Given the description of an element on the screen output the (x, y) to click on. 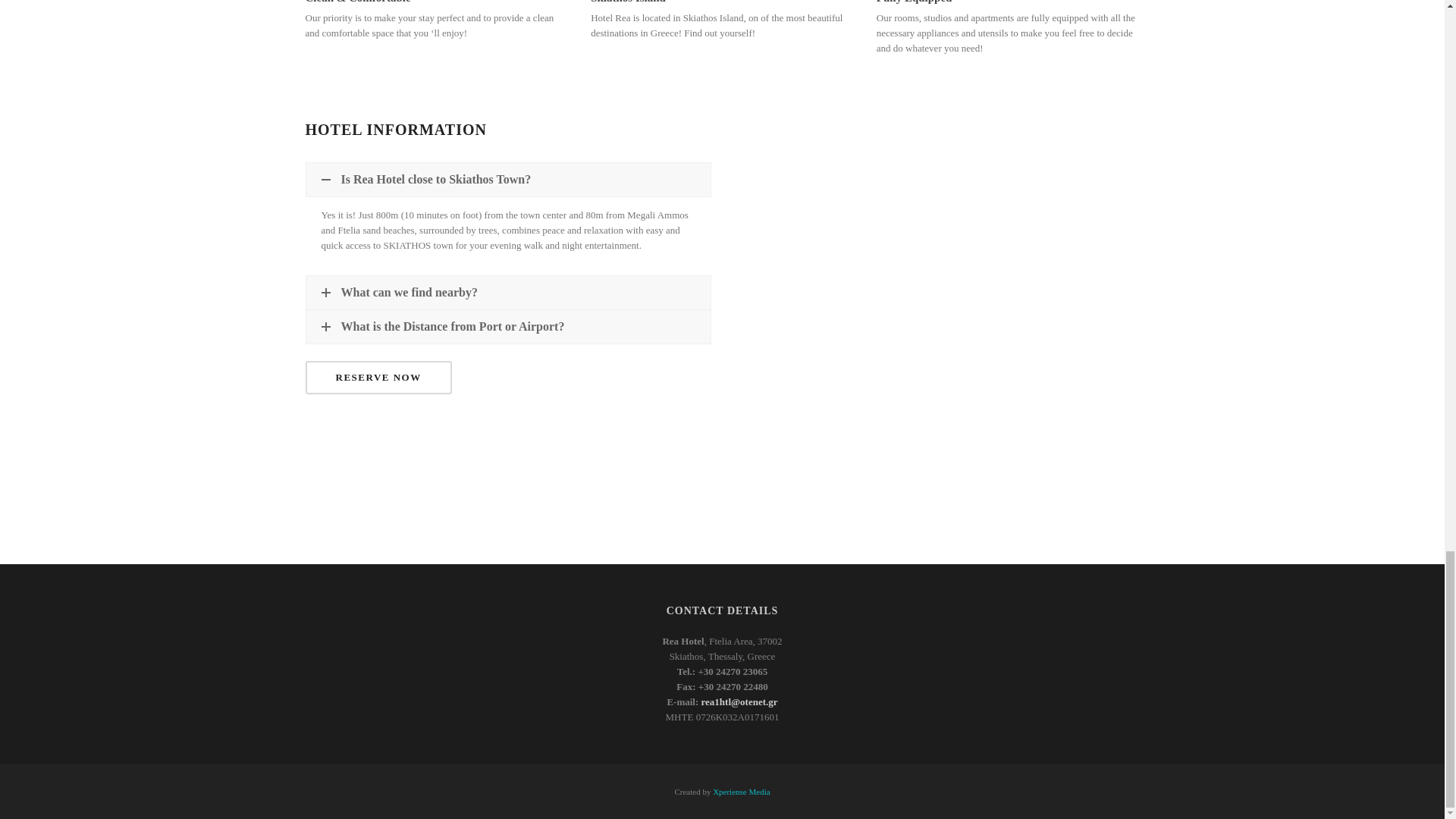
What can we find nearby? (507, 292)
Xperiense Media (741, 791)
RESERVE NOW (377, 377)
Fully Equipped (914, 2)
Is Rea Hotel close to Skiathos Town? (507, 179)
Skiathos Island (628, 2)
What is the Distance from Port or Airport? (507, 326)
